Given the description of an element on the screen output the (x, y) to click on. 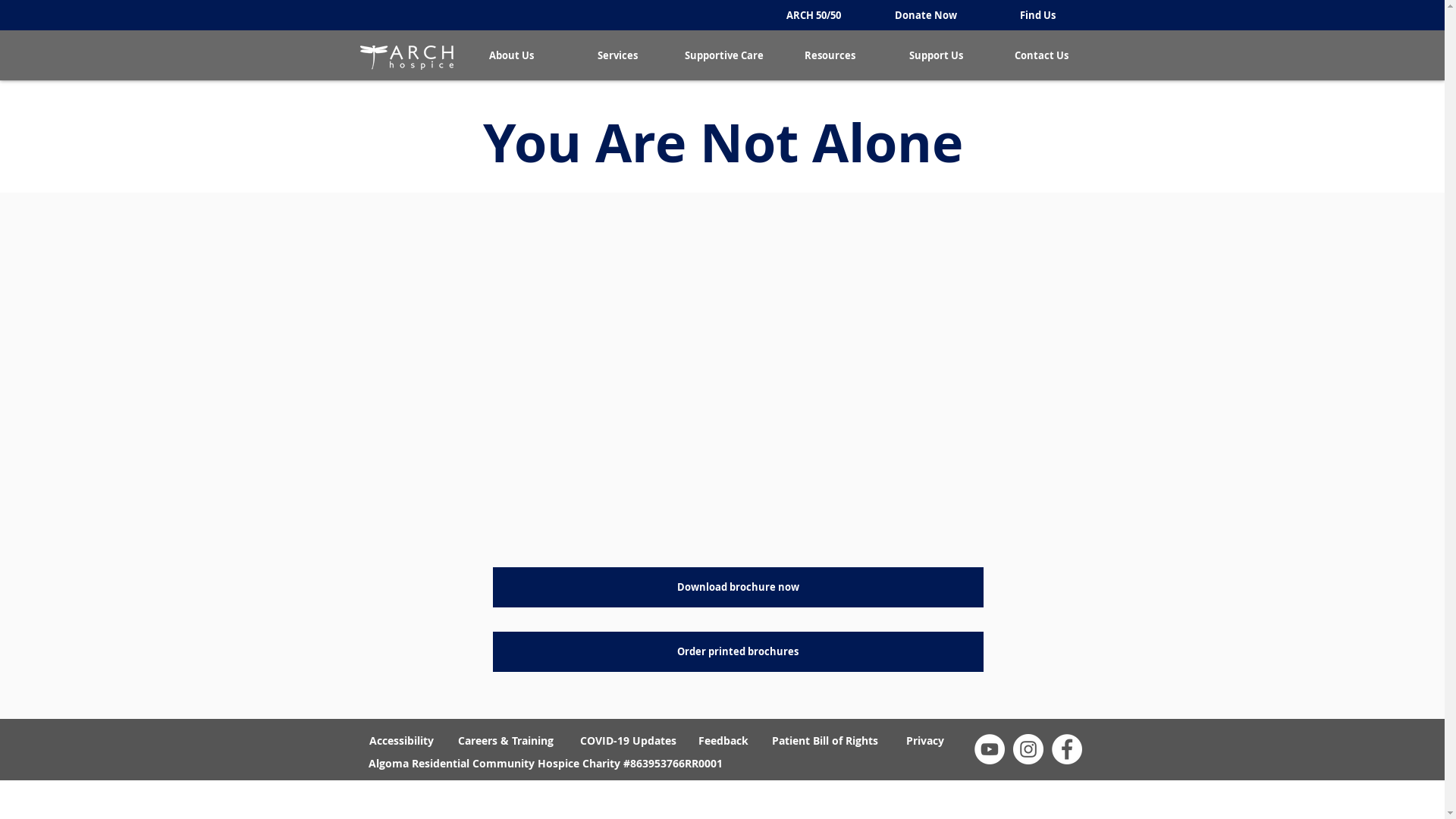
Order printed brochures Element type: text (737, 651)
Download brochure now Element type: text (737, 587)
About Us Element type: text (511, 55)
Resources Element type: text (829, 55)
ARCH 50/50 Element type: text (812, 15)
Find Us Element type: text (1037, 15)
Patient Bill of Rights Element type: text (824, 740)
Accessibility Element type: text (401, 740)
Privacy Element type: text (925, 740)
Contact Us Element type: text (1041, 55)
Services Element type: text (617, 55)
Donate Now Element type: text (925, 15)
Careers & Training Element type: text (504, 740)
COVID-19 Updates Element type: text (627, 740)
PDF File Viewer Element type: hover (737, 385)
Home Element type: hover (405, 57)
Supportive Care Element type: text (723, 55)
Support Us Element type: text (935, 55)
Feedback Element type: text (723, 740)
